Given the description of an element on the screen output the (x, y) to click on. 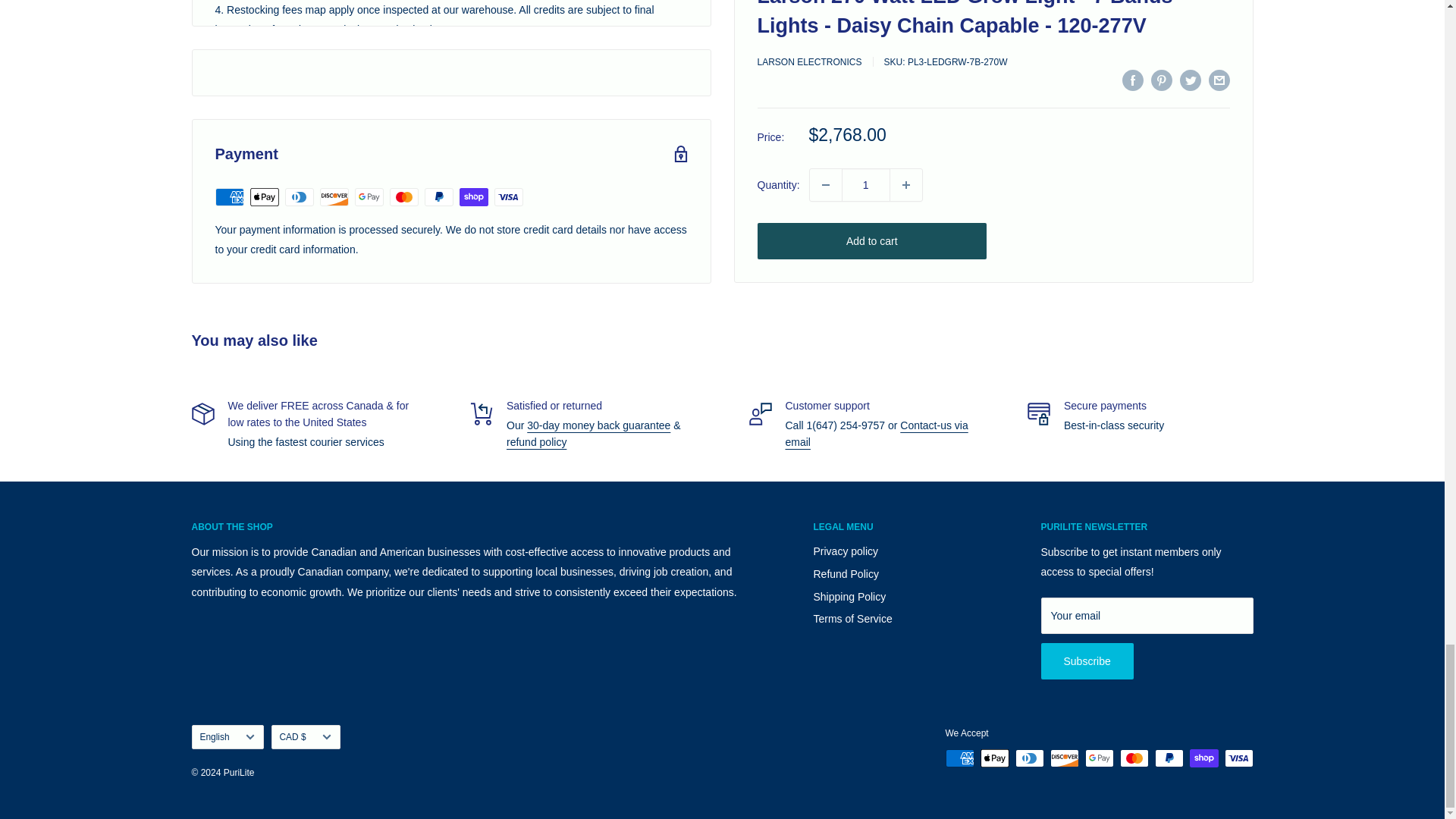
The PuriLite Peace of Mind 30-day money back guarantee (598, 425)
Refund Policy (536, 441)
Contact us (877, 433)
